Given the description of an element on the screen output the (x, y) to click on. 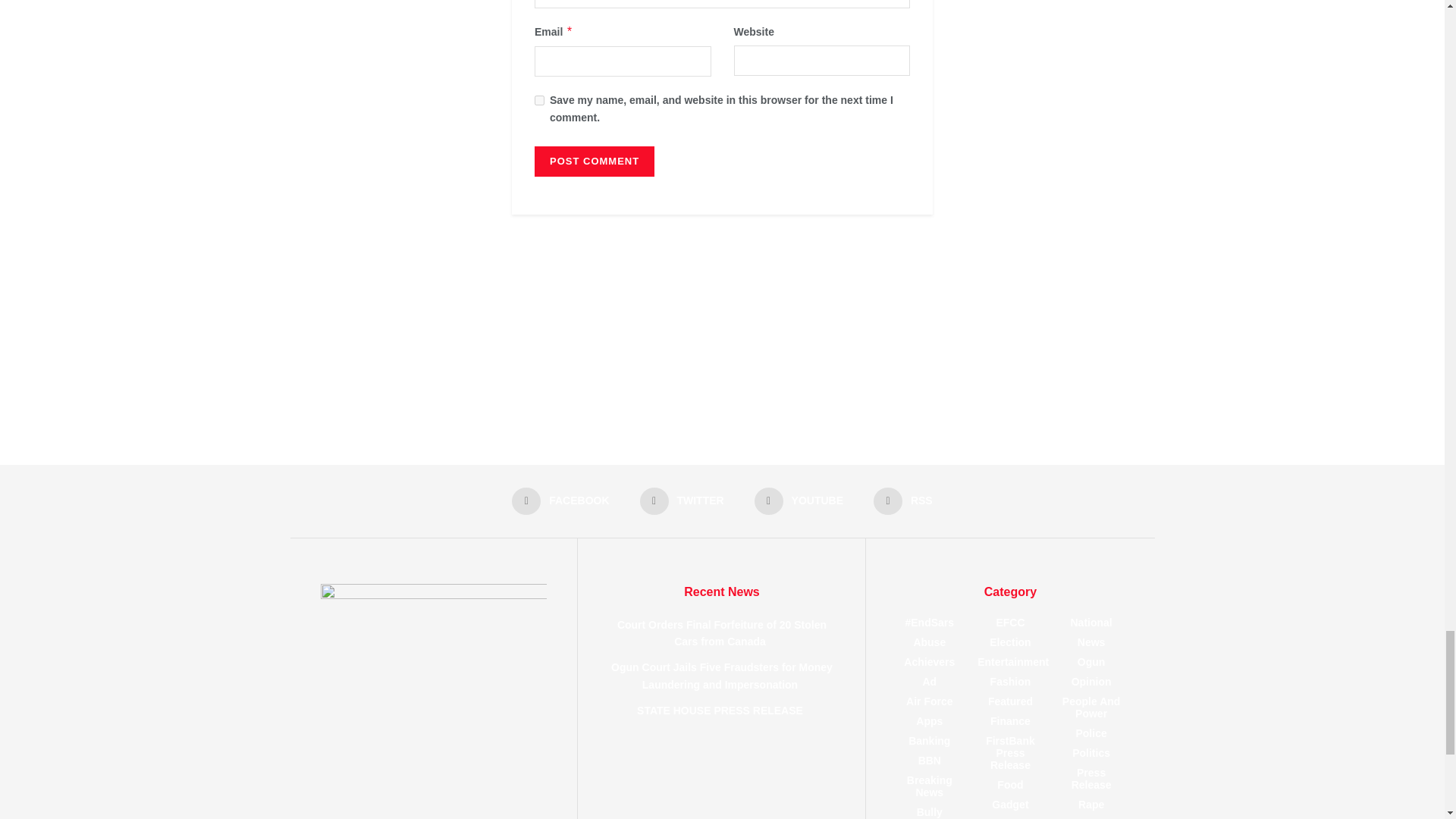
Post Comment (593, 161)
yes (539, 100)
